Given the description of an element on the screen output the (x, y) to click on. 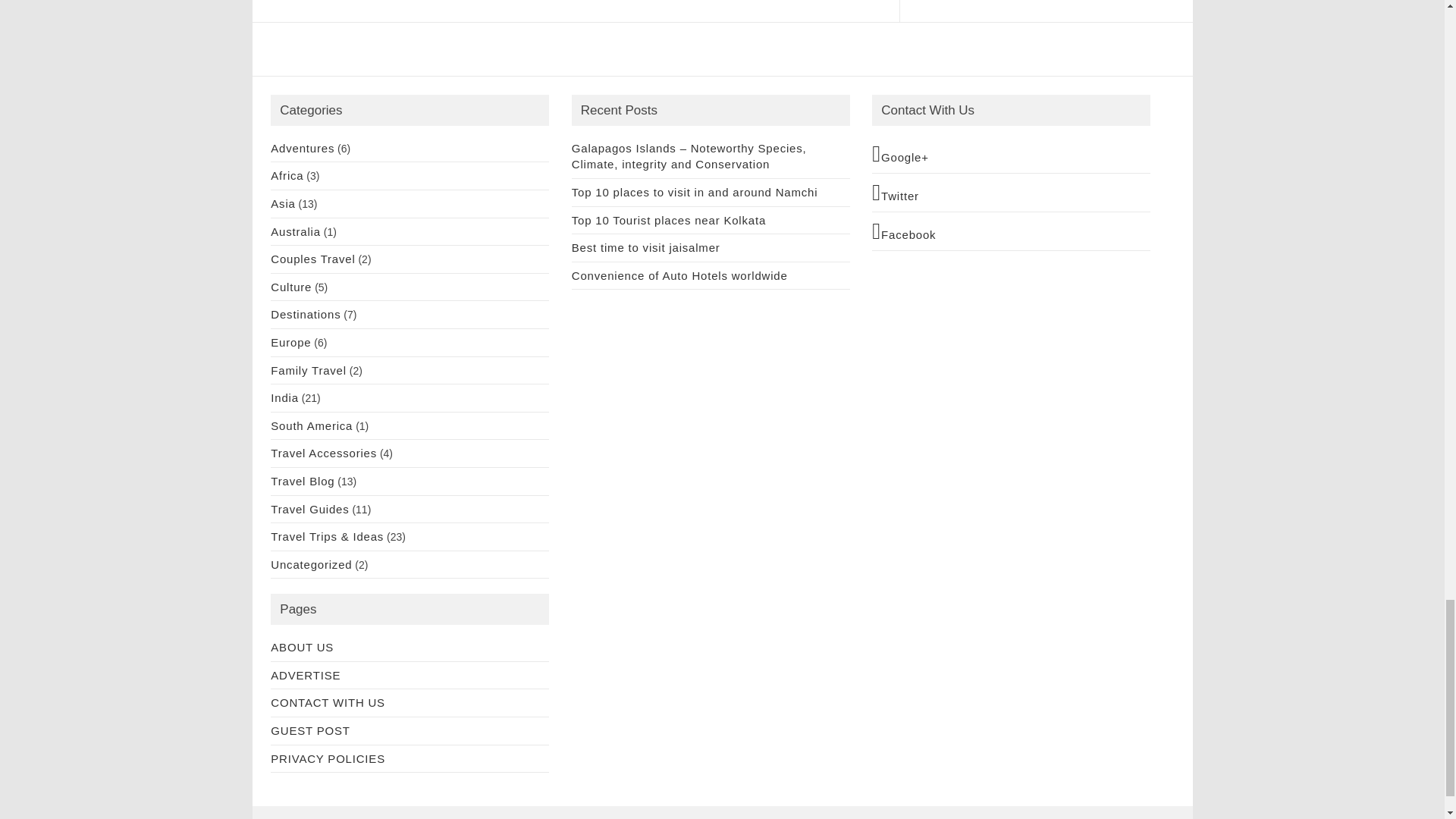
Visit Travel at Destination on Facebook (1011, 231)
Visit Travel at Destination on Twitter (1011, 191)
